Given the description of an element on the screen output the (x, y) to click on. 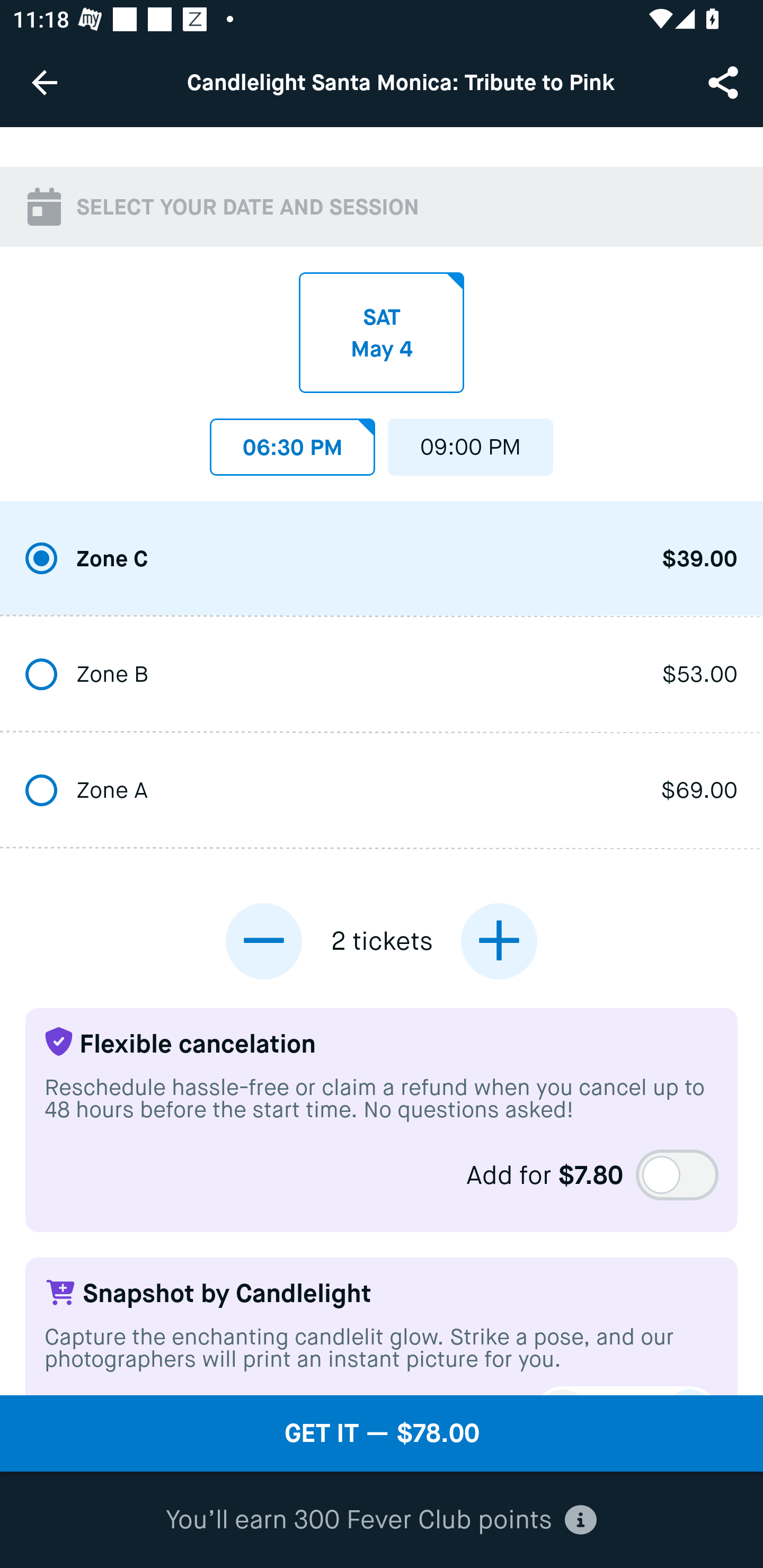
Navigate up (44, 82)
Share (724, 81)
SAT
May 4 (381, 332)
06:30 PM (292, 442)
09:00 PM (470, 442)
Zone C $39.00 (381, 559)
Zone B $53.00 (381, 675)
Zone A $69.00 (381, 791)
decrease (263, 941)
increase (498, 941)
GET IT — $78.00 (381, 1433)
You’ll earn 300 Fever Club points (380, 1519)
